Given the description of an element on the screen output the (x, y) to click on. 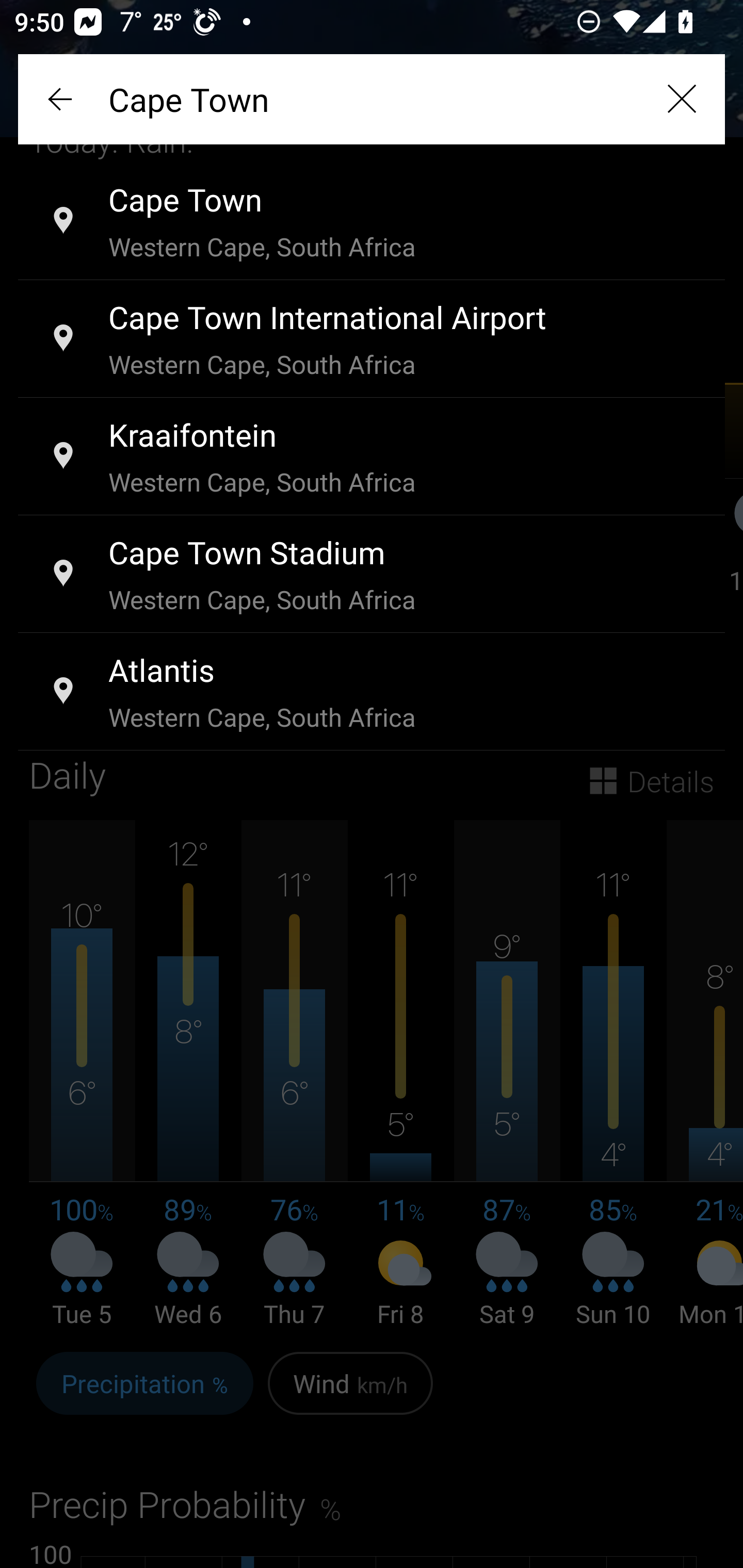
Cape Town (371, 99)
 (681, 99)
 (61, 99)
 Cape Town Western Cape, South Africa (371, 221)
 Kraaifontein Western Cape, South Africa (371, 456)
 Cape Town Stadium Western Cape, South Africa (371, 574)
 Atlantis Western Cape, South Africa (371, 692)
